Given the description of an element on the screen output the (x, y) to click on. 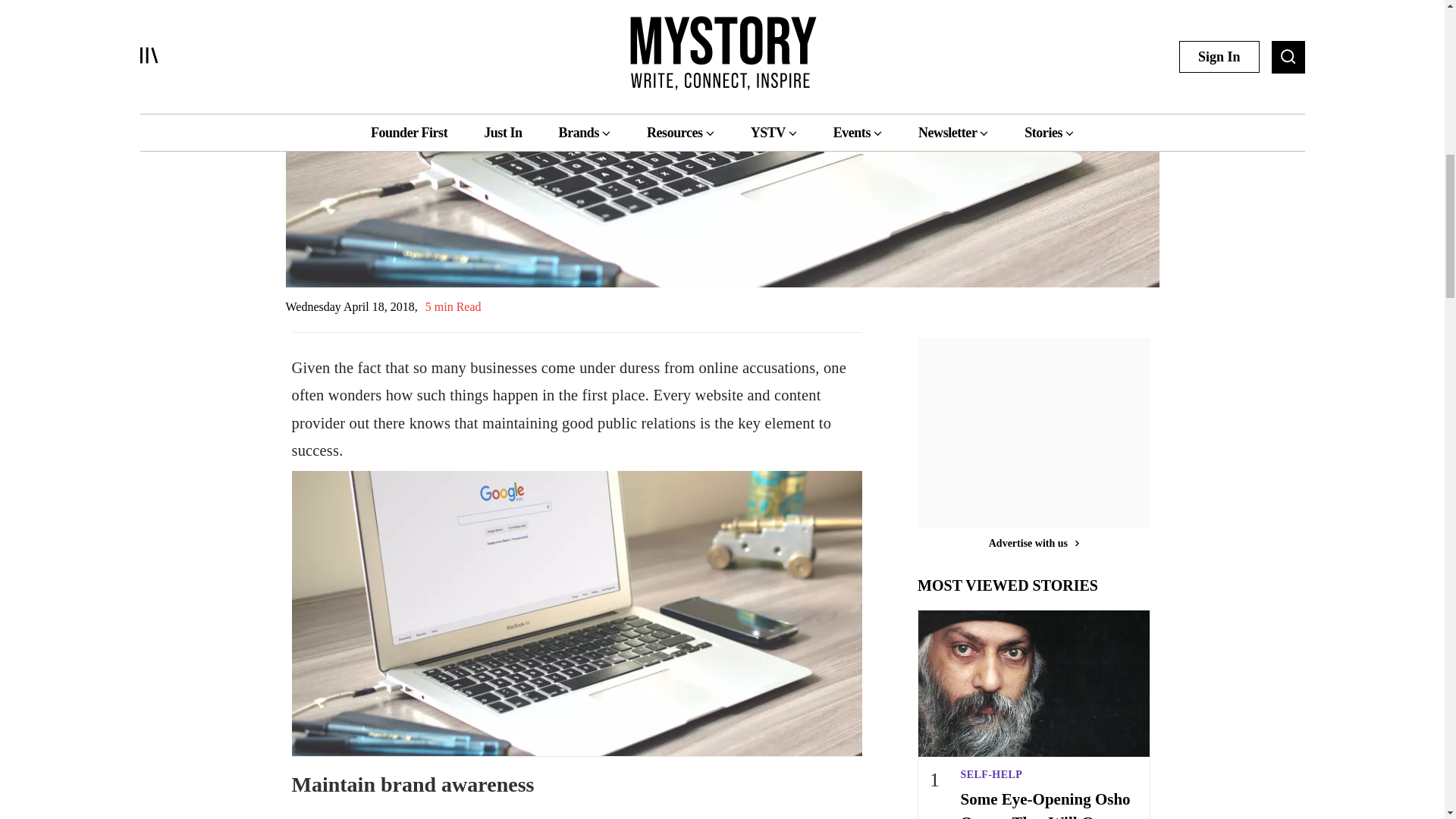
3rd party ad content (1034, 436)
Advertise with us (1034, 543)
SELF-HELP (1049, 777)
Some Eye-Opening Osho Quotes That Will Grow Your Wisdom (1049, 803)
